Given the description of an element on the screen output the (x, y) to click on. 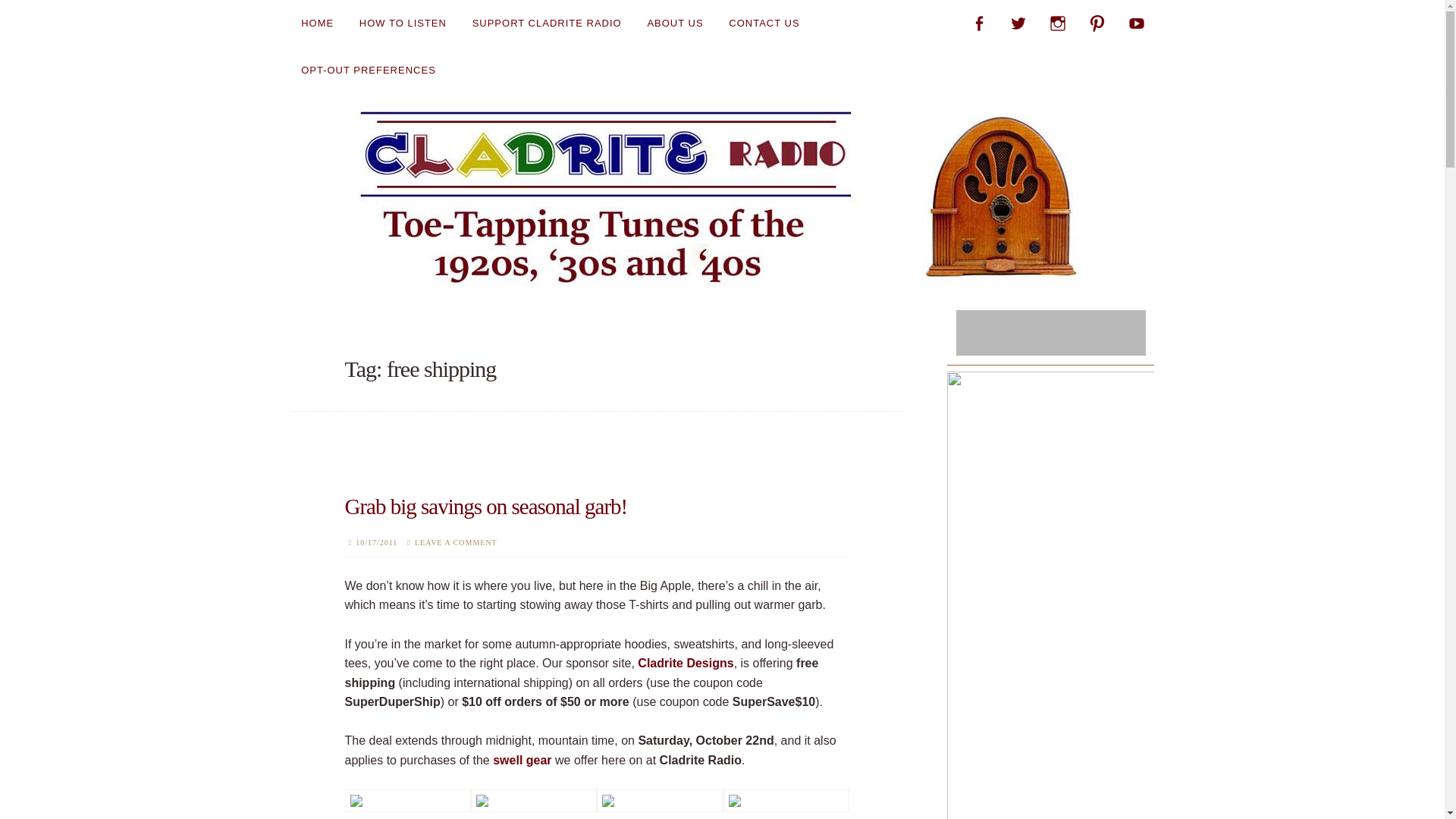
HOME (316, 23)
LEAVE A COMMENT (455, 542)
OPT-OUT PREFERENCES (367, 70)
SUPPORT CLADRITE RADIO (546, 23)
CONTACT US (763, 23)
HOW TO LISTEN (402, 23)
swell gear (522, 759)
Cladrite Designs (685, 662)
Grab big savings on seasonal garb! (485, 506)
ABOUT US (675, 23)
